Given the description of an element on the screen output the (x, y) to click on. 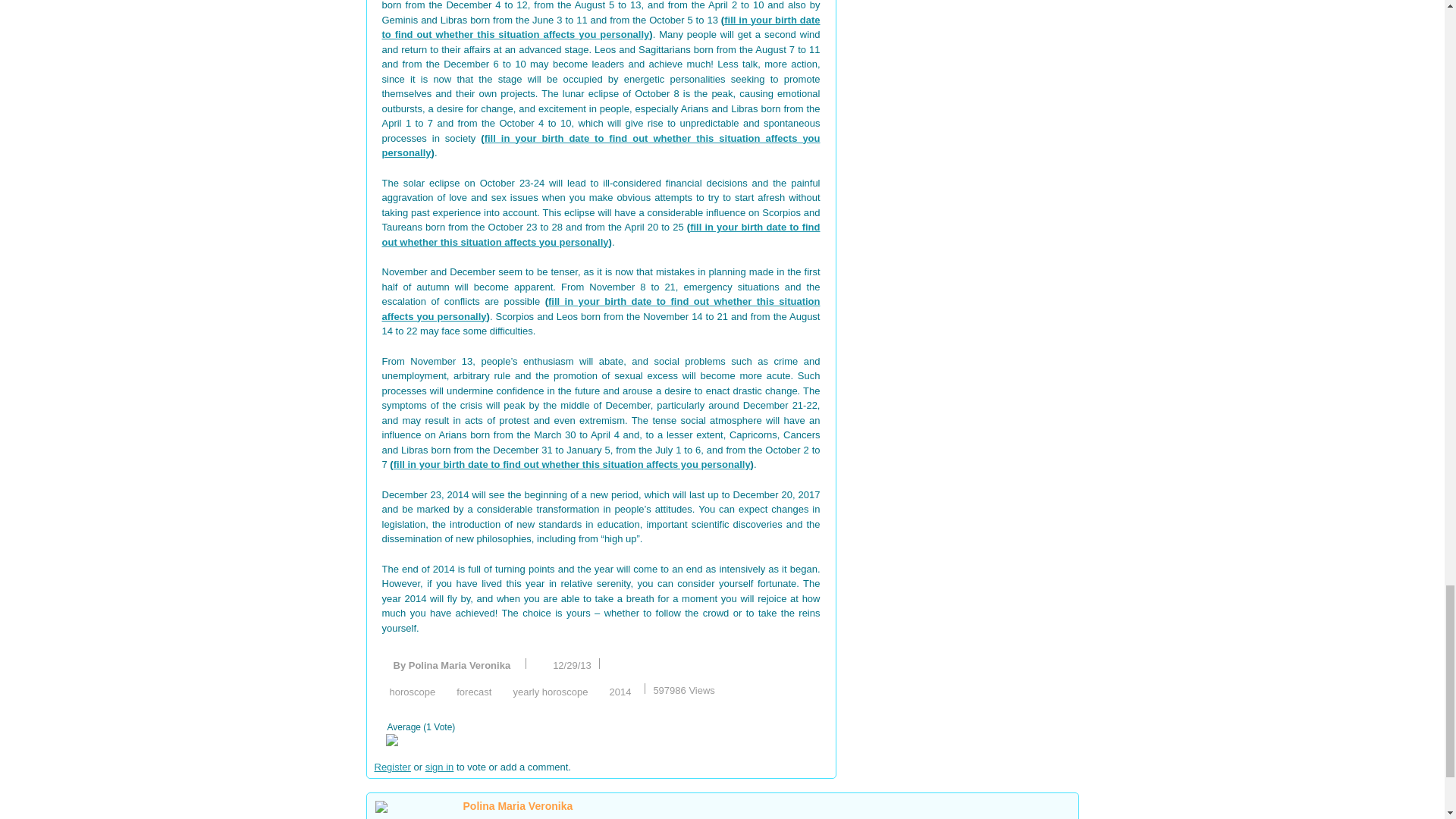
sign in (439, 767)
Register (392, 767)
Polina-Maria-Veronika - Creator of ArtUrania (415, 809)
